Given the description of an element on the screen output the (x, y) to click on. 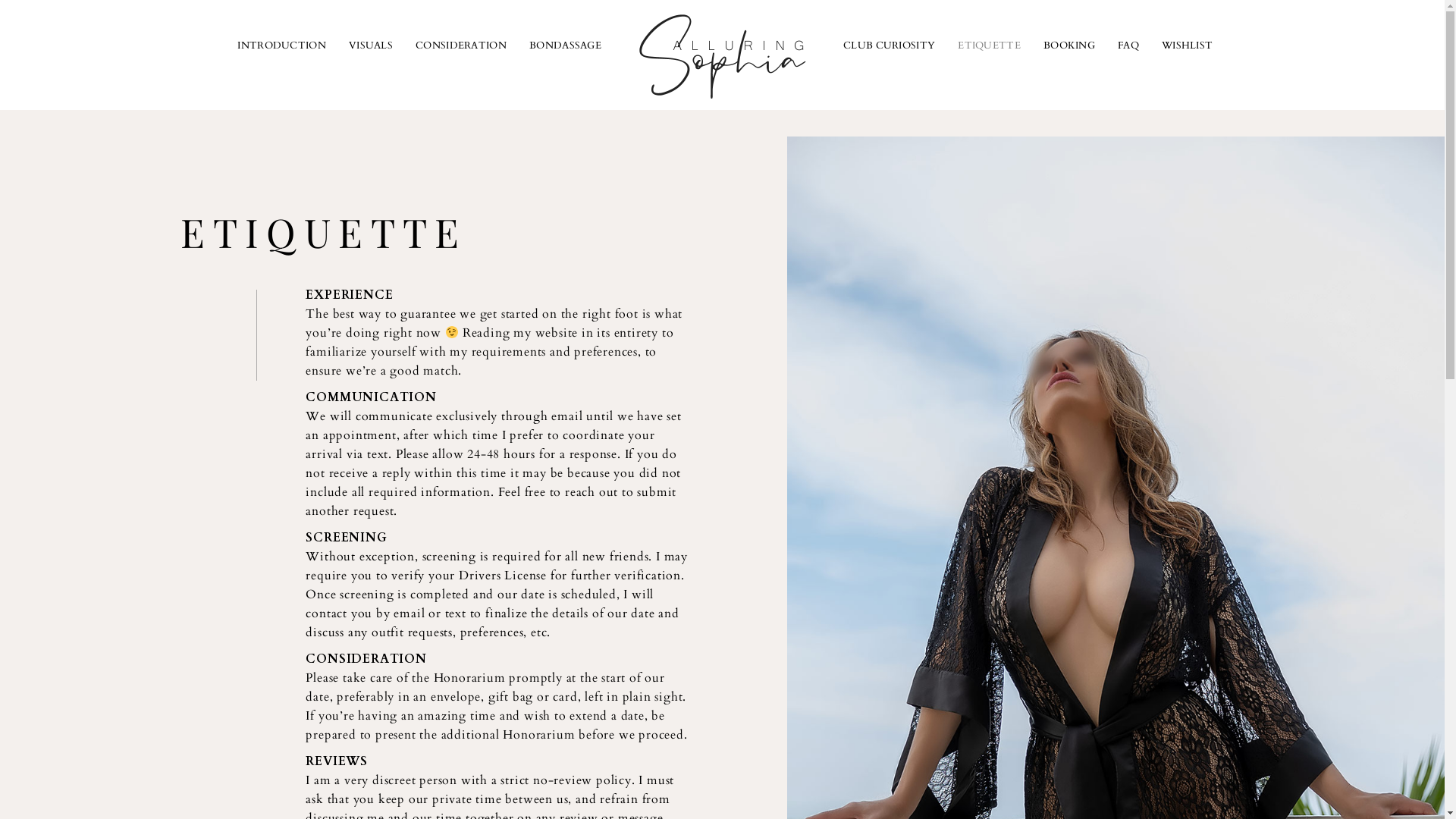
FAQ Element type: text (1128, 45)
BONDASSAGE Element type: text (564, 45)
WISHLIST Element type: text (1186, 45)
BOOKING Element type: text (1069, 45)
CLUB CURIOSITY Element type: text (888, 45)
CONSIDERATION Element type: text (460, 45)
VISUALS Element type: text (370, 45)
INTRODUCTION Element type: text (281, 45)
ETIQUETTE Element type: text (989, 45)
